Given the description of an element on the screen output the (x, y) to click on. 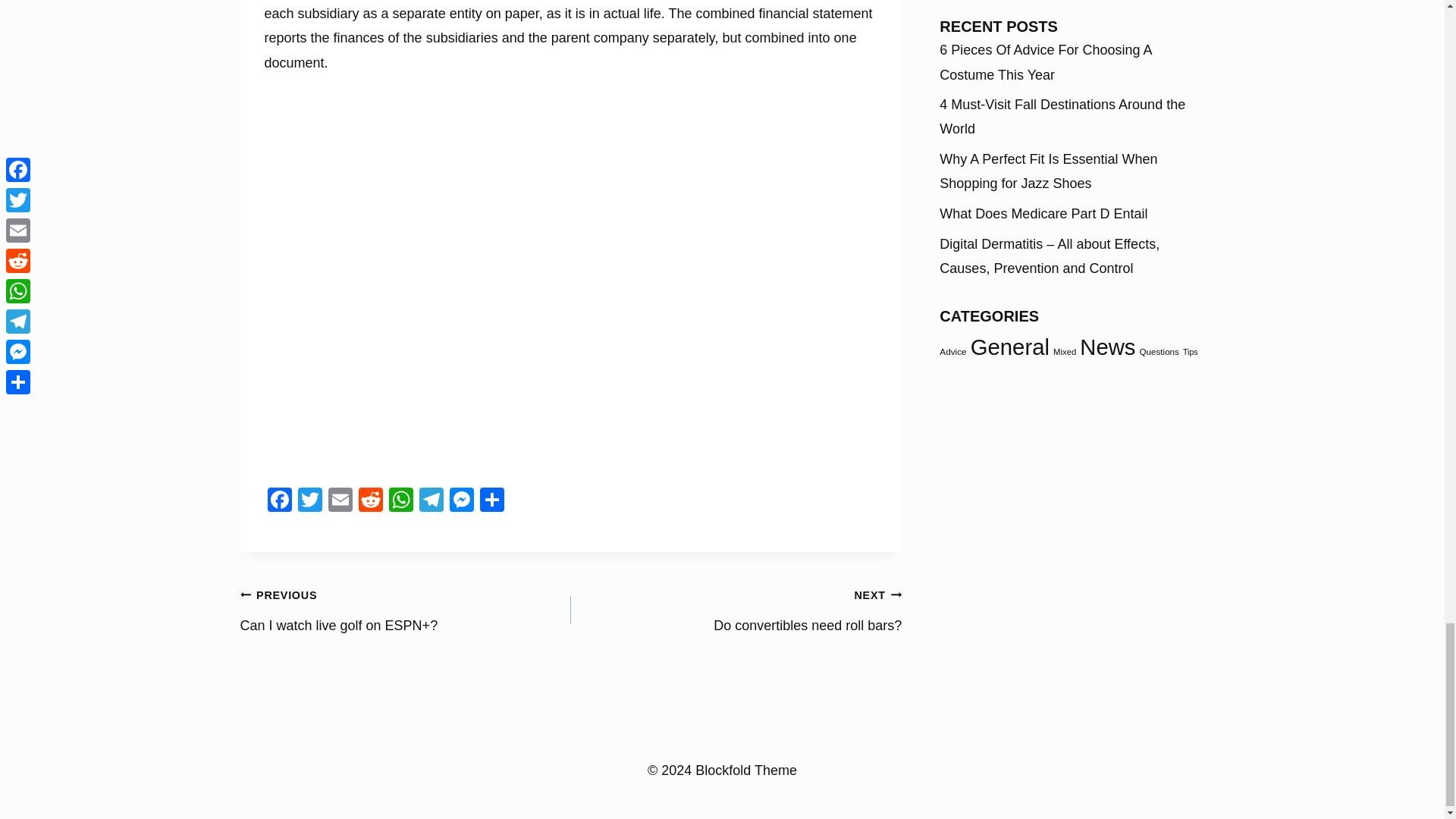
Twitter (309, 501)
Facebook (735, 610)
Email (278, 501)
Twitter (339, 501)
Share (309, 501)
WhatsApp (491, 501)
WhatsApp (399, 501)
Consolidation - Wholly owned subsidiary (399, 501)
Email (429, 501)
Telegram (339, 501)
Messenger (429, 501)
Reddit (460, 501)
Reddit (370, 501)
